Given the description of an element on the screen output the (x, y) to click on. 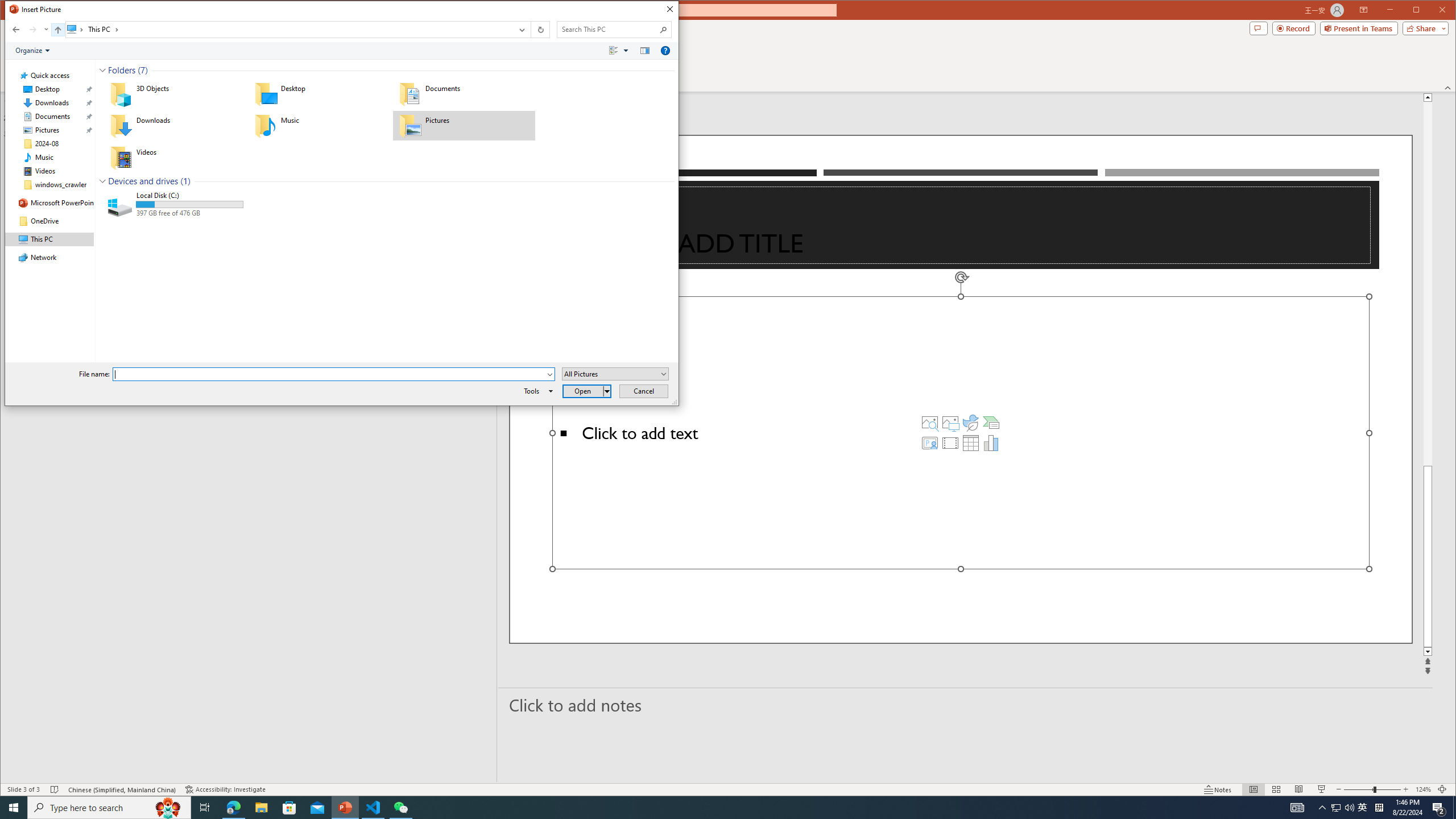
&Help (665, 50)
Space used (189, 203)
Videos (174, 156)
Tools (536, 390)
Stock Images (929, 422)
Insert Table (970, 443)
Tools (536, 390)
Recent locations (45, 29)
